Given the description of an element on the screen output the (x, y) to click on. 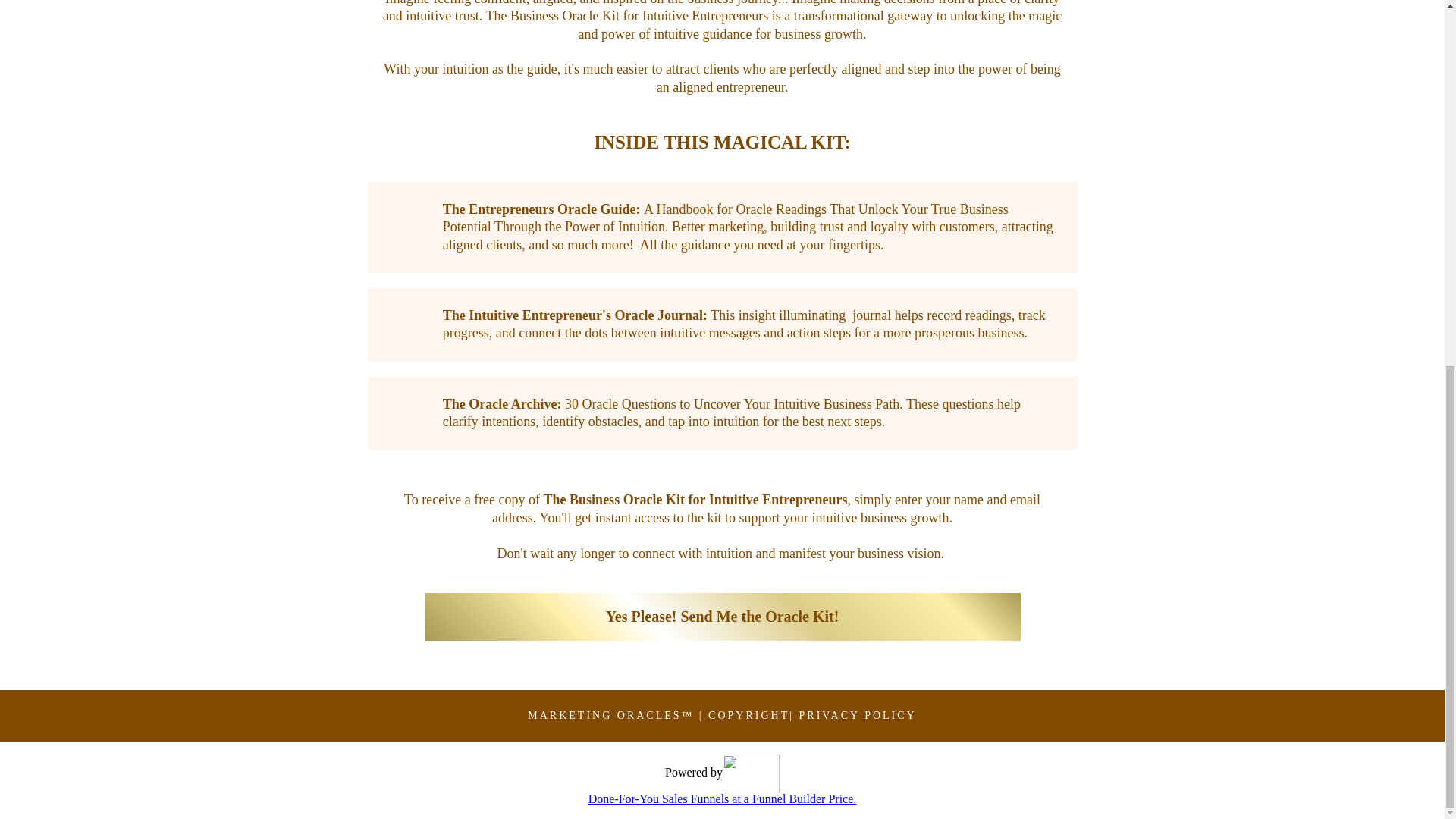
Yes Please! Send Me the Oracle Kit! (722, 616)
PRIVACY POLICY (858, 715)
Done-For-You Sales Funnels at a Funnel Builder Price. (722, 798)
